Given the description of an element on the screen output the (x, y) to click on. 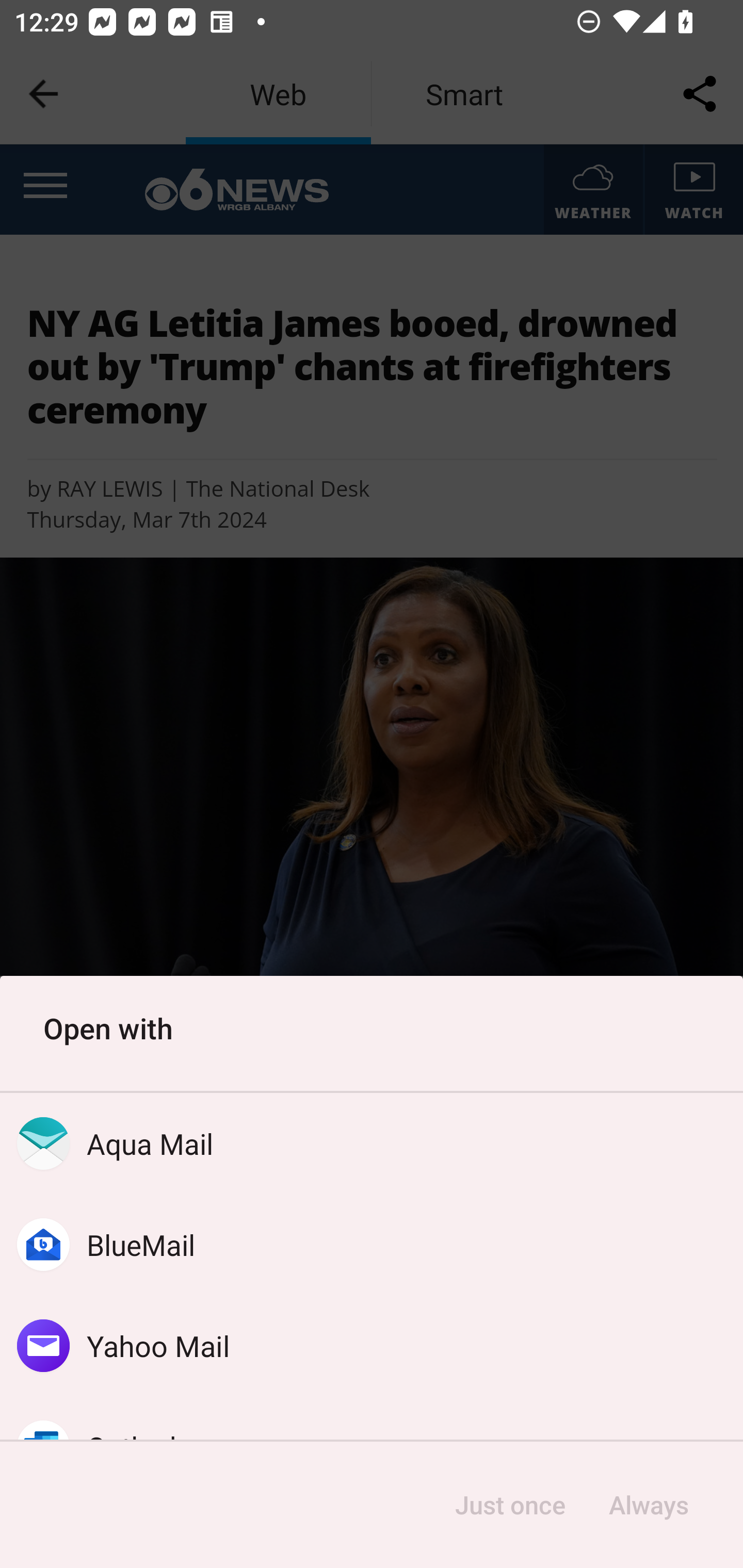
Aqua Mail (371, 1143)
BlueMail (371, 1244)
Yahoo Mail (371, 1345)
Just once (509, 1504)
Always (648, 1504)
